Given the description of an element on the screen output the (x, y) to click on. 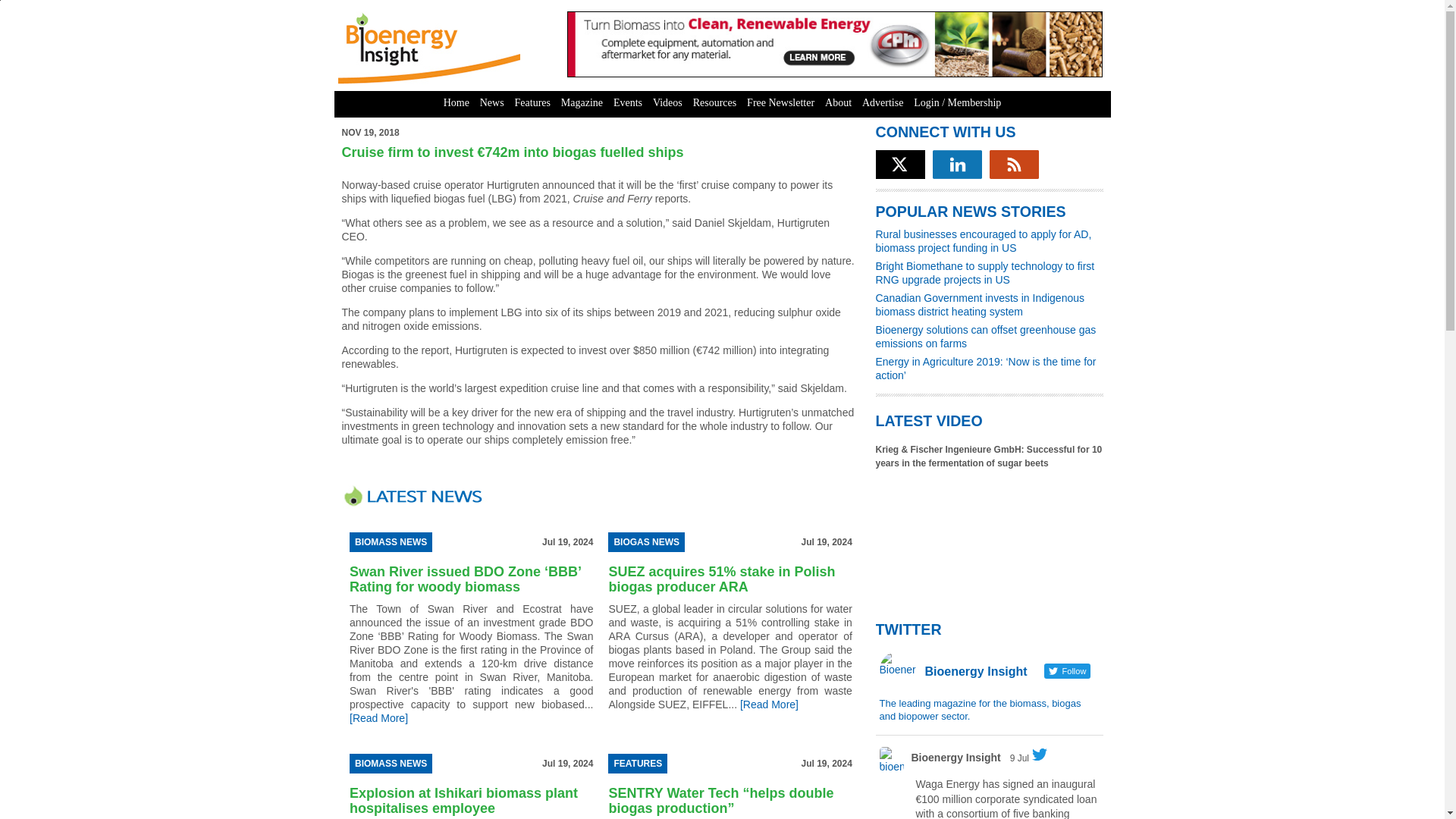
Resources (714, 102)
Magazine (582, 102)
Advertise (883, 102)
Videos (667, 102)
Features (532, 102)
Free Newsletter (780, 102)
